Given the description of an element on the screen output the (x, y) to click on. 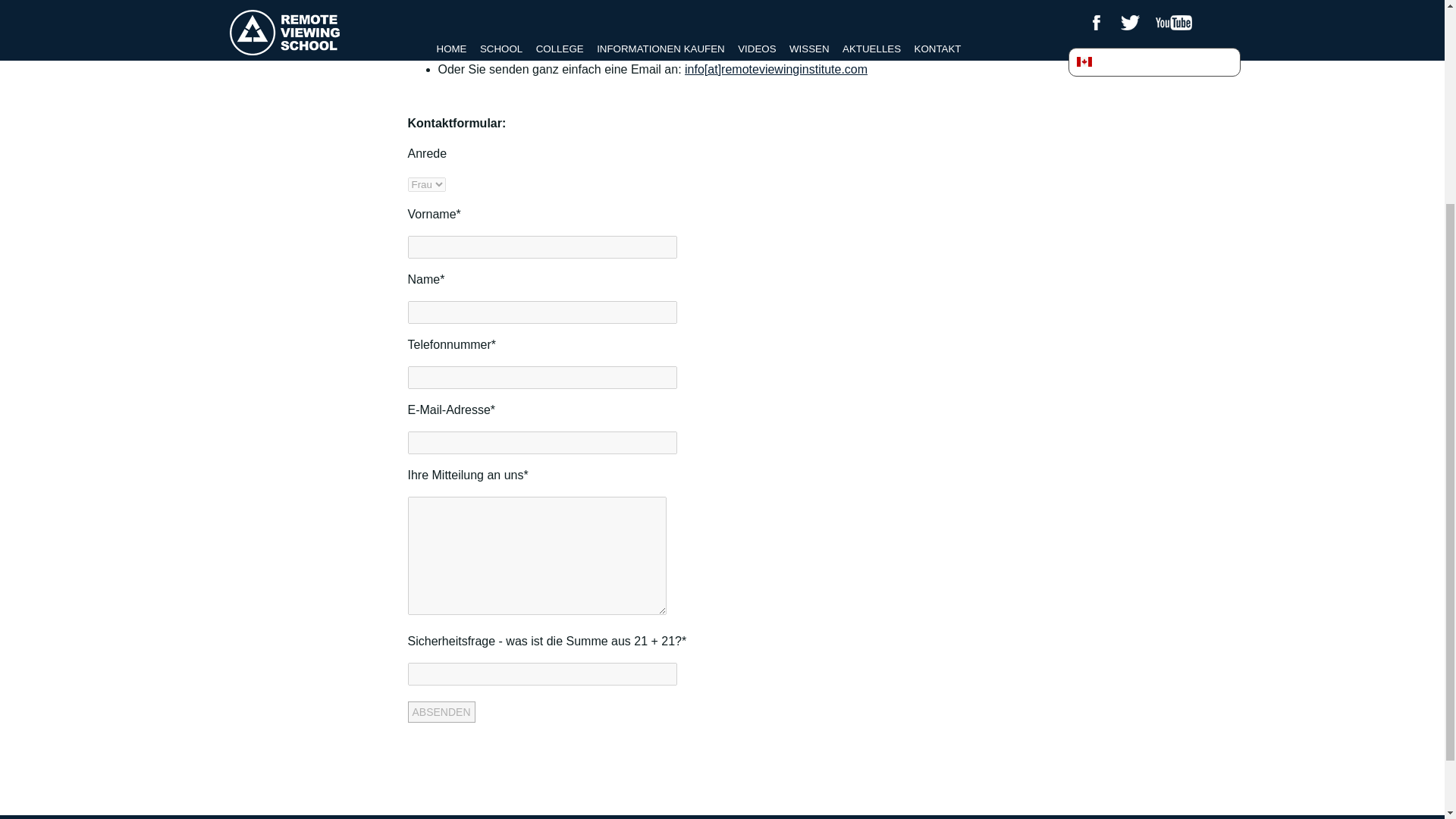
Absenden (441, 711)
